Given the description of an element on the screen output the (x, y) to click on. 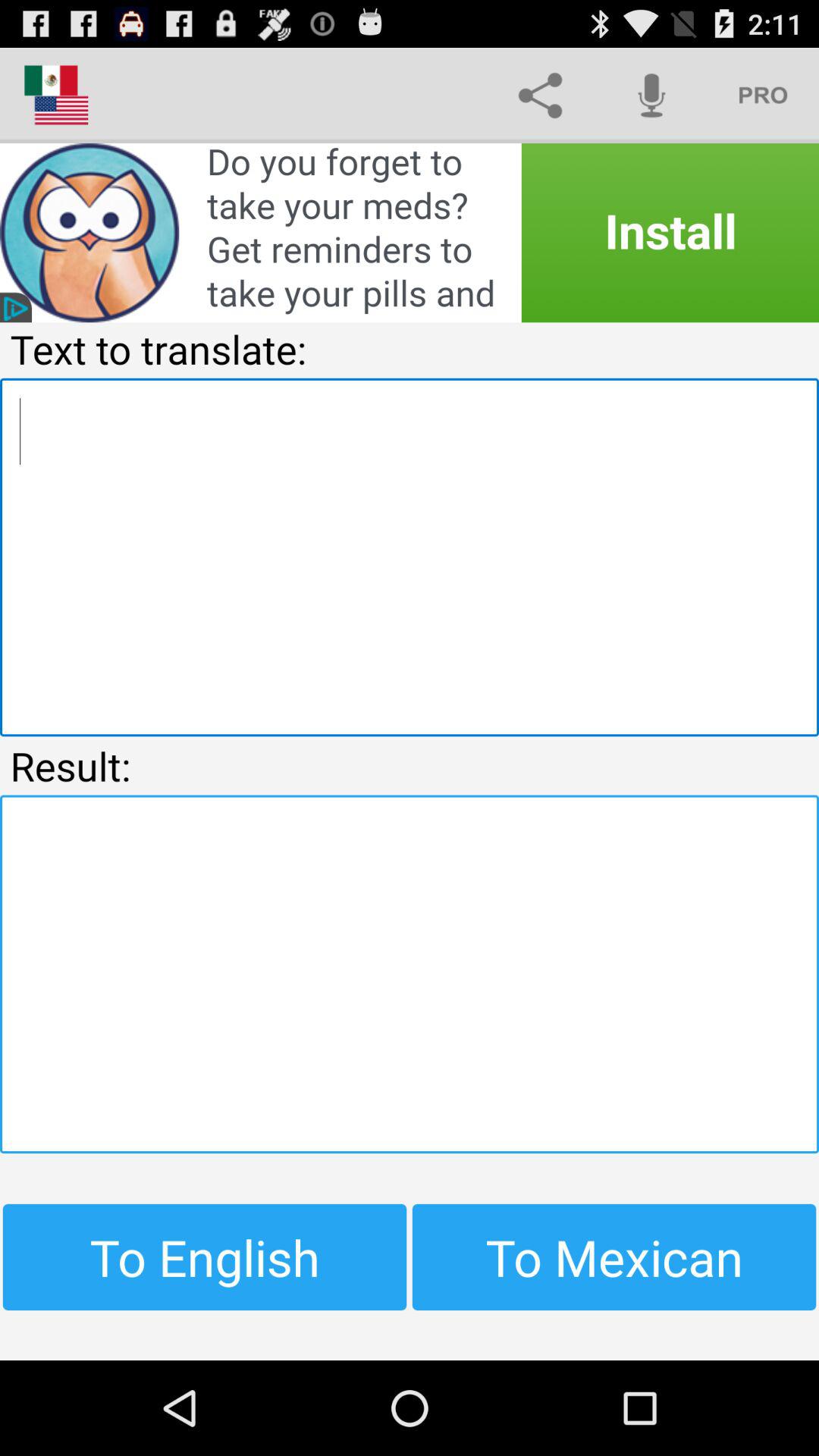
click to install (409, 232)
